Given the description of an element on the screen output the (x, y) to click on. 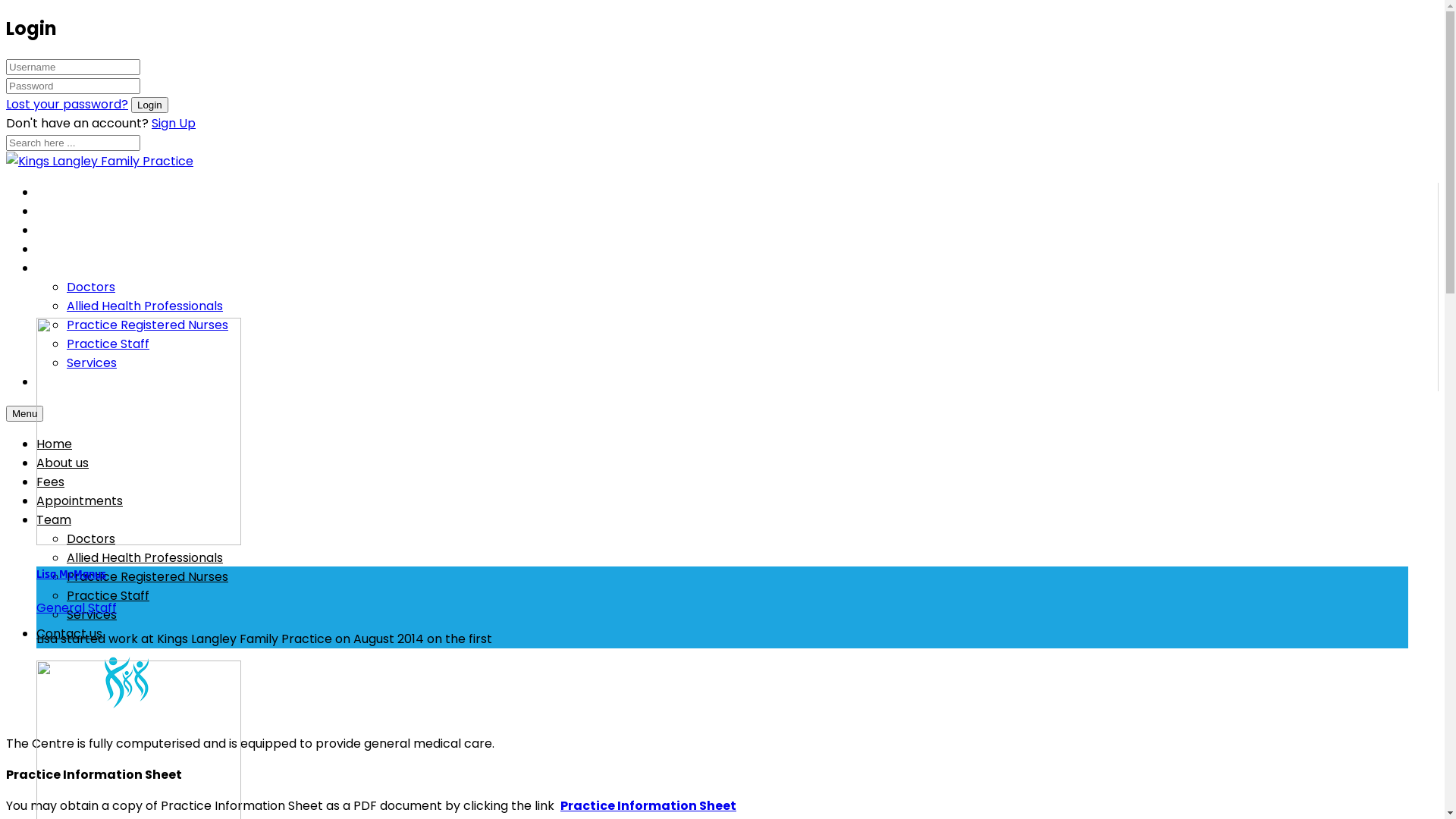
Doctors Element type: text (90, 538)
Home Element type: text (64, 191)
Kings Langley Family Practice Element type: hover (99, 160)
Appointments Element type: text (79, 500)
Lisa McManus Element type: text (71, 574)
Home Element type: text (54, 443)
Services Element type: text (91, 614)
Practice Registered Nurses Element type: text (147, 576)
Appointments Element type: text (90, 248)
Practice Registered Nurses Element type: text (147, 324)
Contact us Element type: text (69, 633)
Sign Up Element type: text (173, 122)
General Staff Element type: text (76, 607)
About us Element type: text (62, 462)
Contact us Element type: text (79, 380)
Lost your password? Element type: text (67, 103)
Fees Element type: text (61, 229)
Services Element type: text (91, 362)
Team Element type: text (63, 267)
Practice Staff Element type: text (107, 595)
Practice Staff Element type: text (107, 343)
About us Element type: text (74, 210)
Menu Element type: text (24, 413)
Allied Health Professionals Element type: text (144, 305)
Allied Health Professionals Element type: text (144, 557)
Login Element type: text (149, 104)
Doctors Element type: text (90, 286)
Practice Information Sheet Element type: text (648, 805)
Fees Element type: text (50, 481)
Team Element type: text (53, 519)
